Given the description of an element on the screen output the (x, y) to click on. 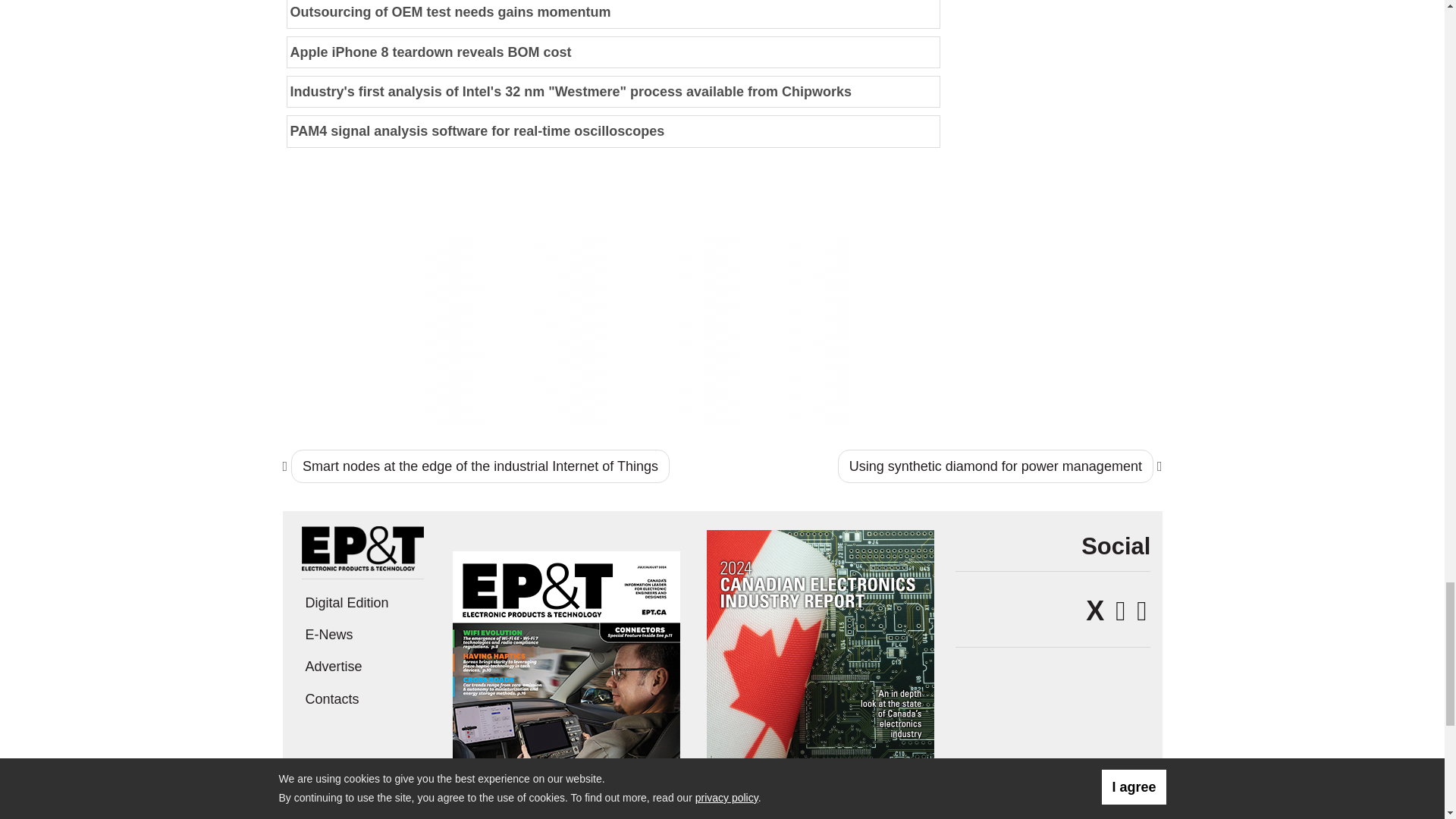
3rd party ad content (617, 330)
